Given the description of an element on the screen output the (x, y) to click on. 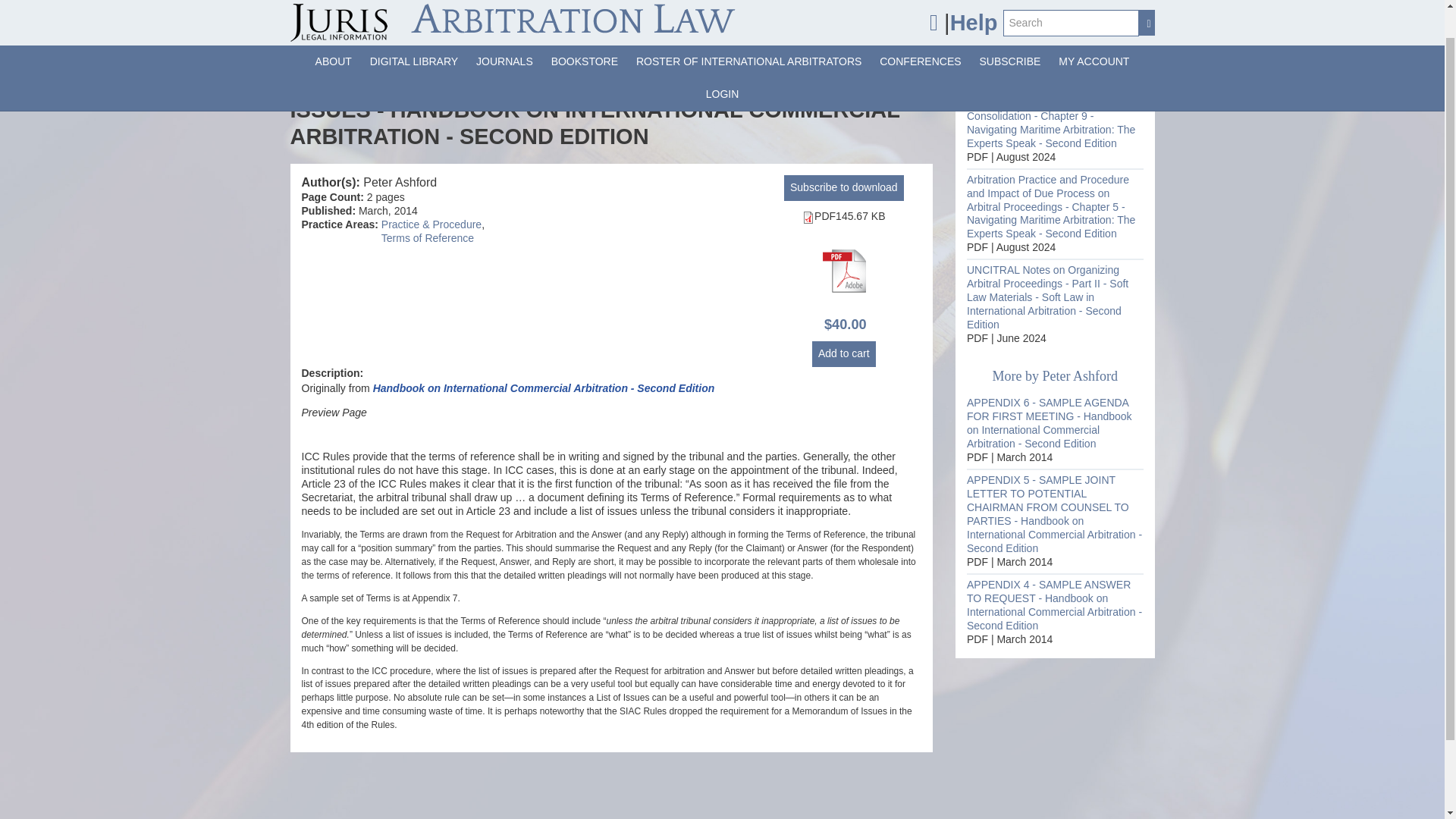
Add to cart (844, 353)
ABOUT (333, 30)
SUBSCRIBE (1010, 30)
BOOKSTORE (584, 30)
ROSTER OF INTERNATIONAL ARBITRATORS (748, 30)
Subscribe to download (844, 187)
MY ACCOUNT (1094, 30)
Enter the terms you wish to search for. (1070, 2)
JOURNALS (504, 30)
